Given the description of an element on the screen output the (x, y) to click on. 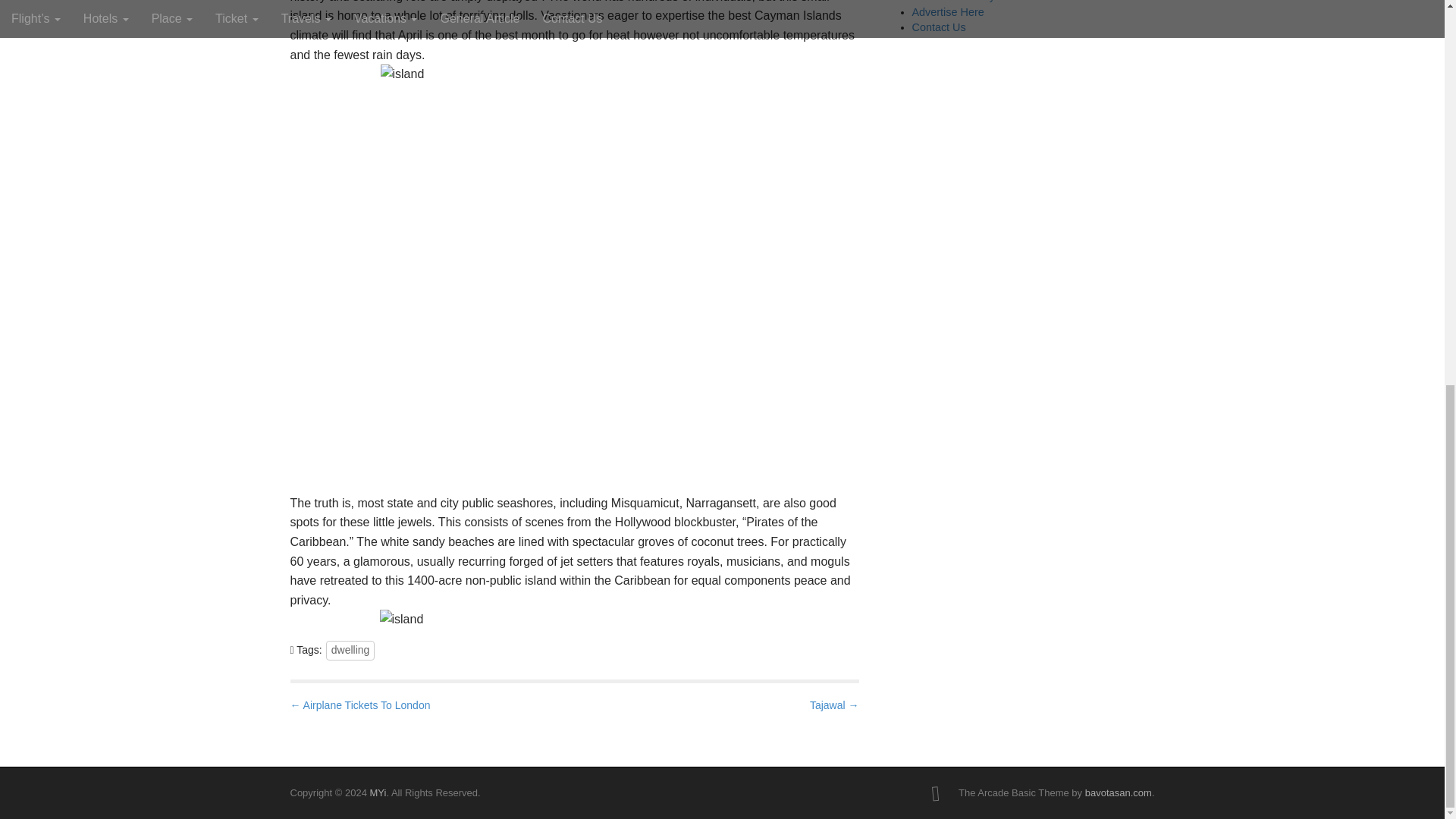
dwelling (350, 650)
